Given the description of an element on the screen output the (x, y) to click on. 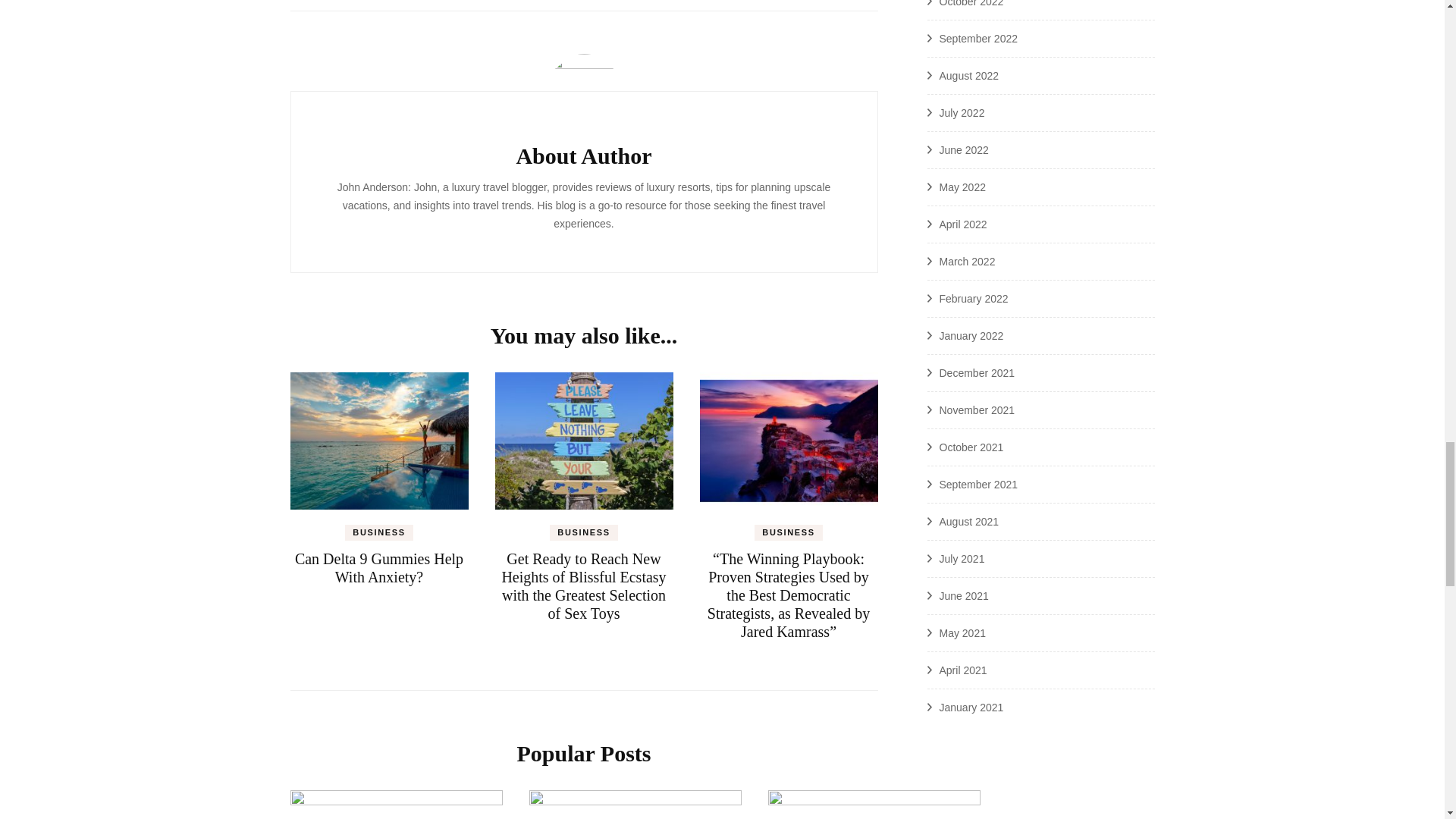
Can Delta 9 Gummies Help With Anxiety? (379, 567)
BUSINESS (378, 532)
BUSINESS (583, 532)
